Given the description of an element on the screen output the (x, y) to click on. 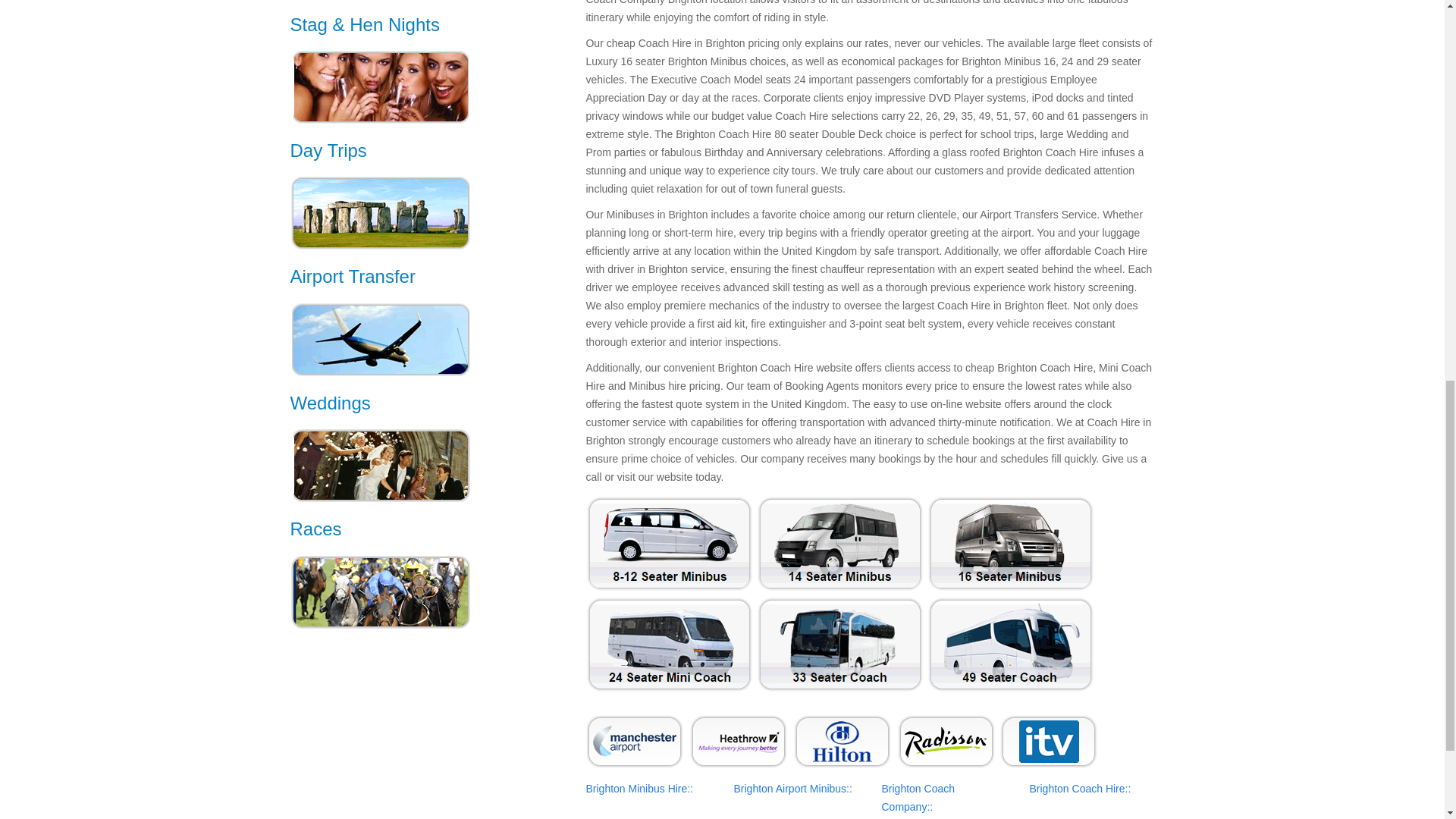
Coach Hire Brighton (917, 797)
Coach Hire Brighton (792, 788)
Brighton Airport Minibus:: (792, 788)
Brighton Minibus Hire:: (639, 788)
Brighton Coach Company:: (917, 797)
Coach Hire Brighton (639, 788)
Brighton Coach Hire:: (1080, 788)
Coach Hire Brighton (1080, 788)
